Given the description of an element on the screen output the (x, y) to click on. 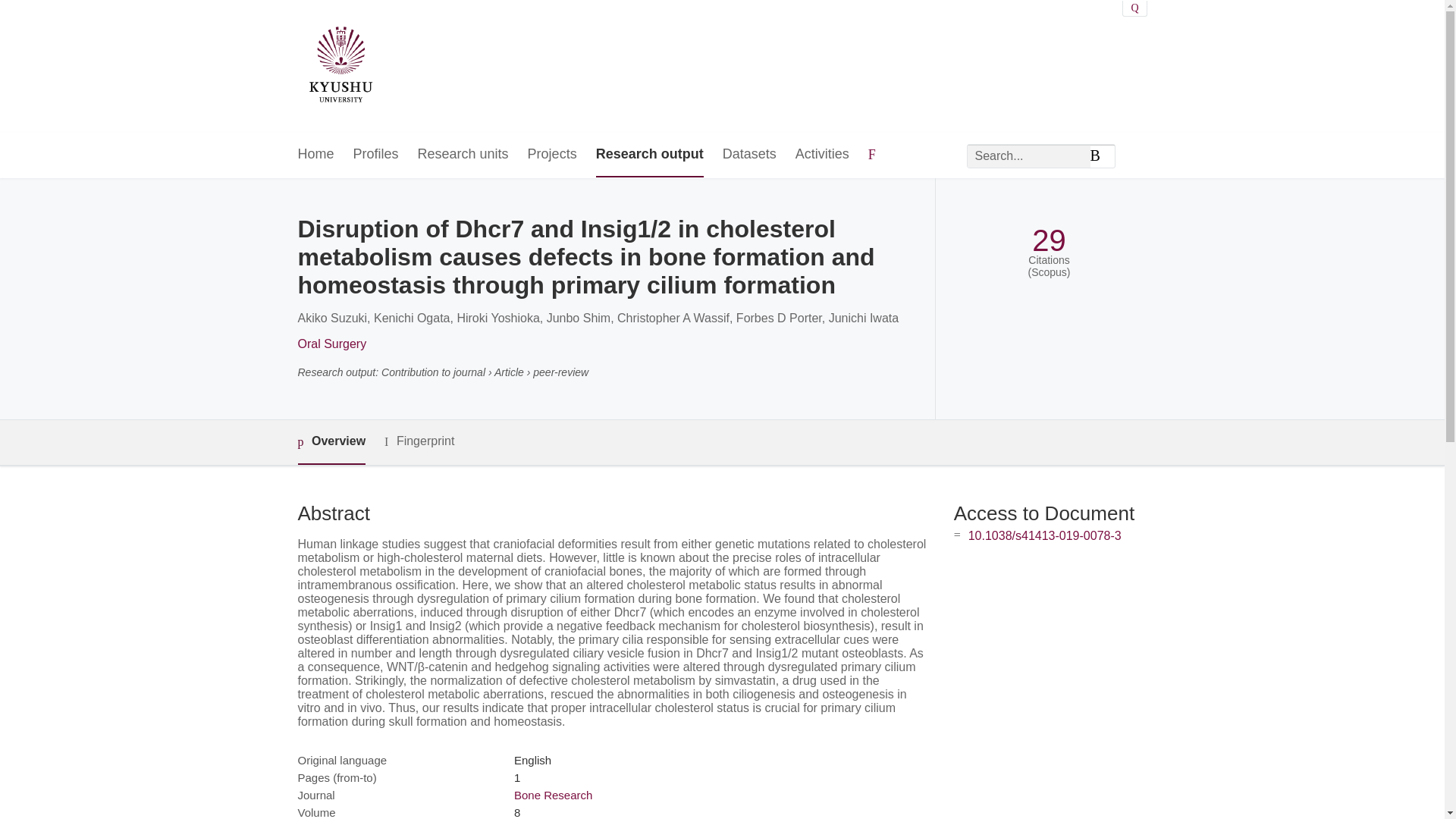
Overview (331, 442)
Datasets (749, 154)
Profiles (375, 154)
Bone Research (552, 794)
Oral Surgery (331, 343)
29 (1048, 240)
Research output (649, 154)
Research units (462, 154)
Projects (551, 154)
Activities (821, 154)
